Given the description of an element on the screen output the (x, y) to click on. 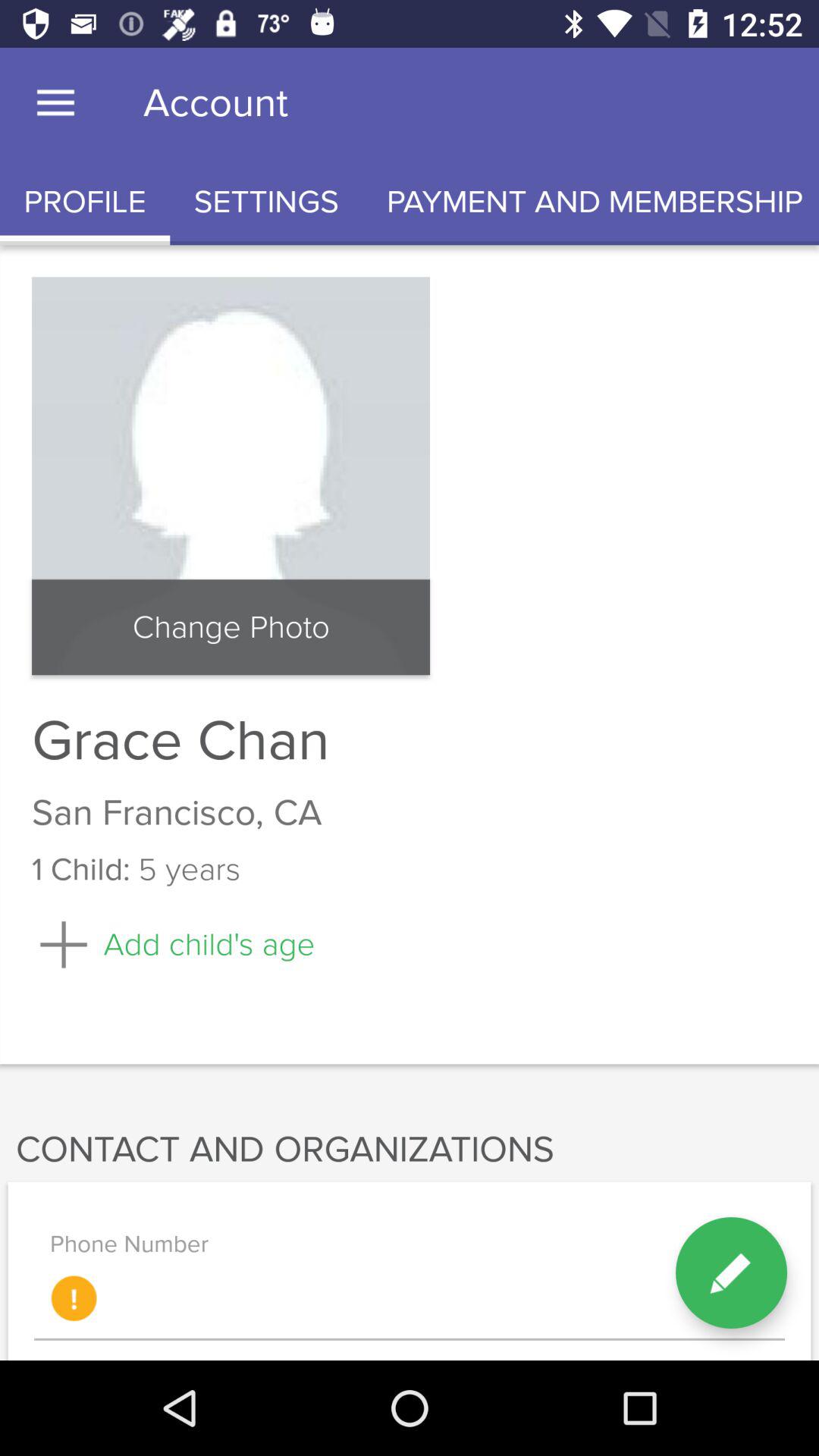
turn off the icon next to settings icon (590, 202)
